Given the description of an element on the screen output the (x, y) to click on. 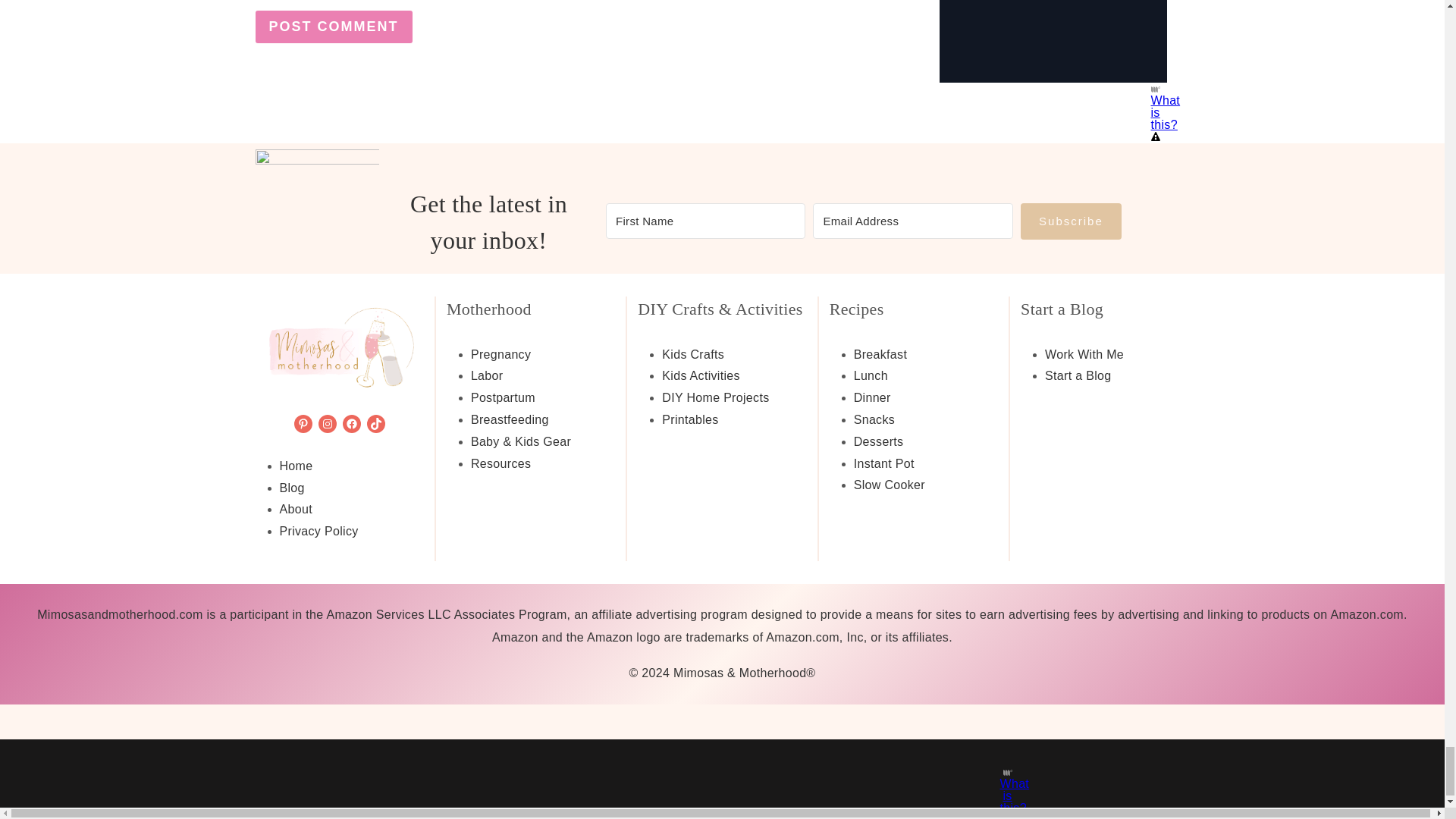
Post Comment (333, 26)
